Given the description of an element on the screen output the (x, y) to click on. 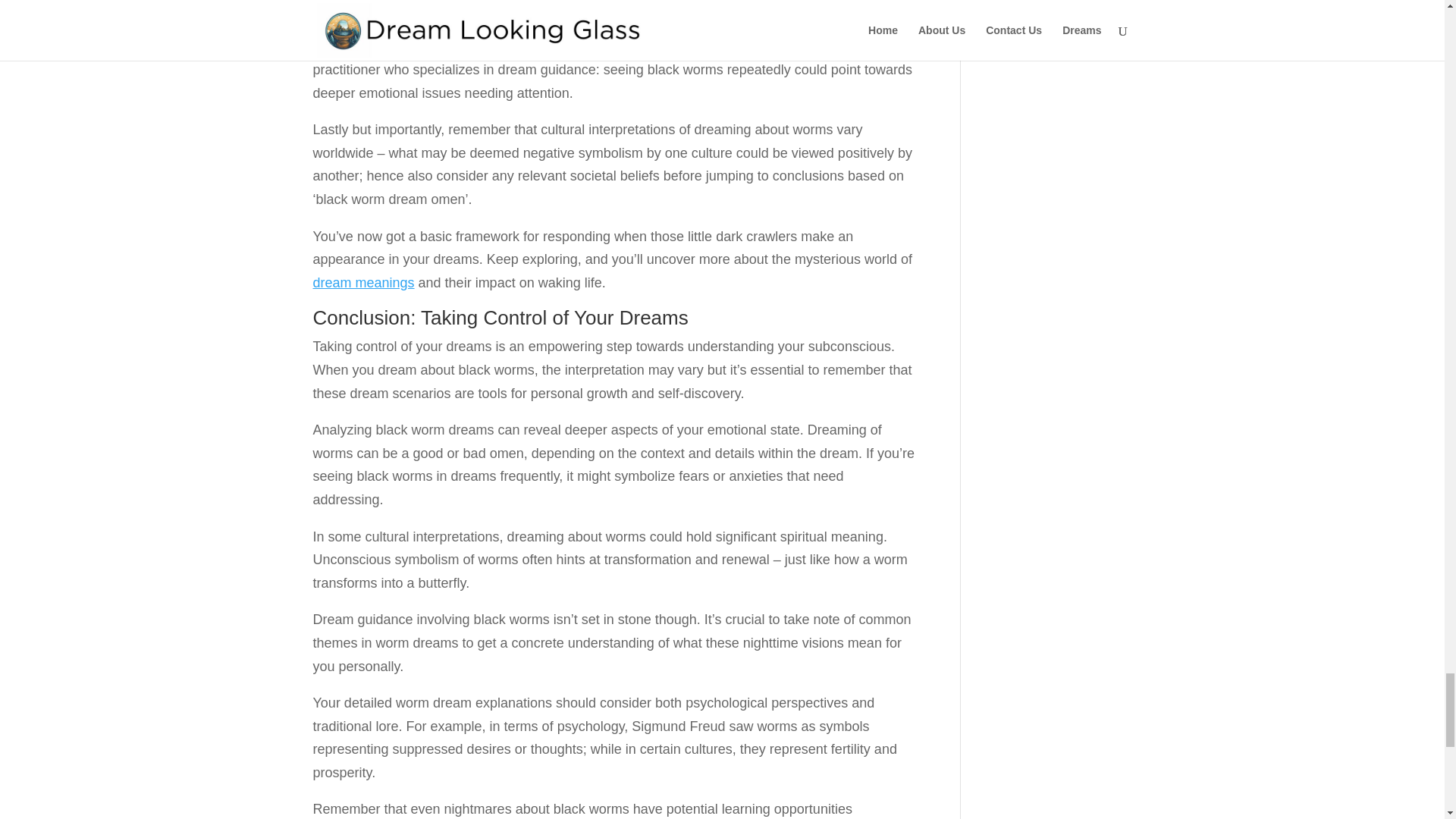
dream meanings (363, 282)
